Given the description of an element on the screen output the (x, y) to click on. 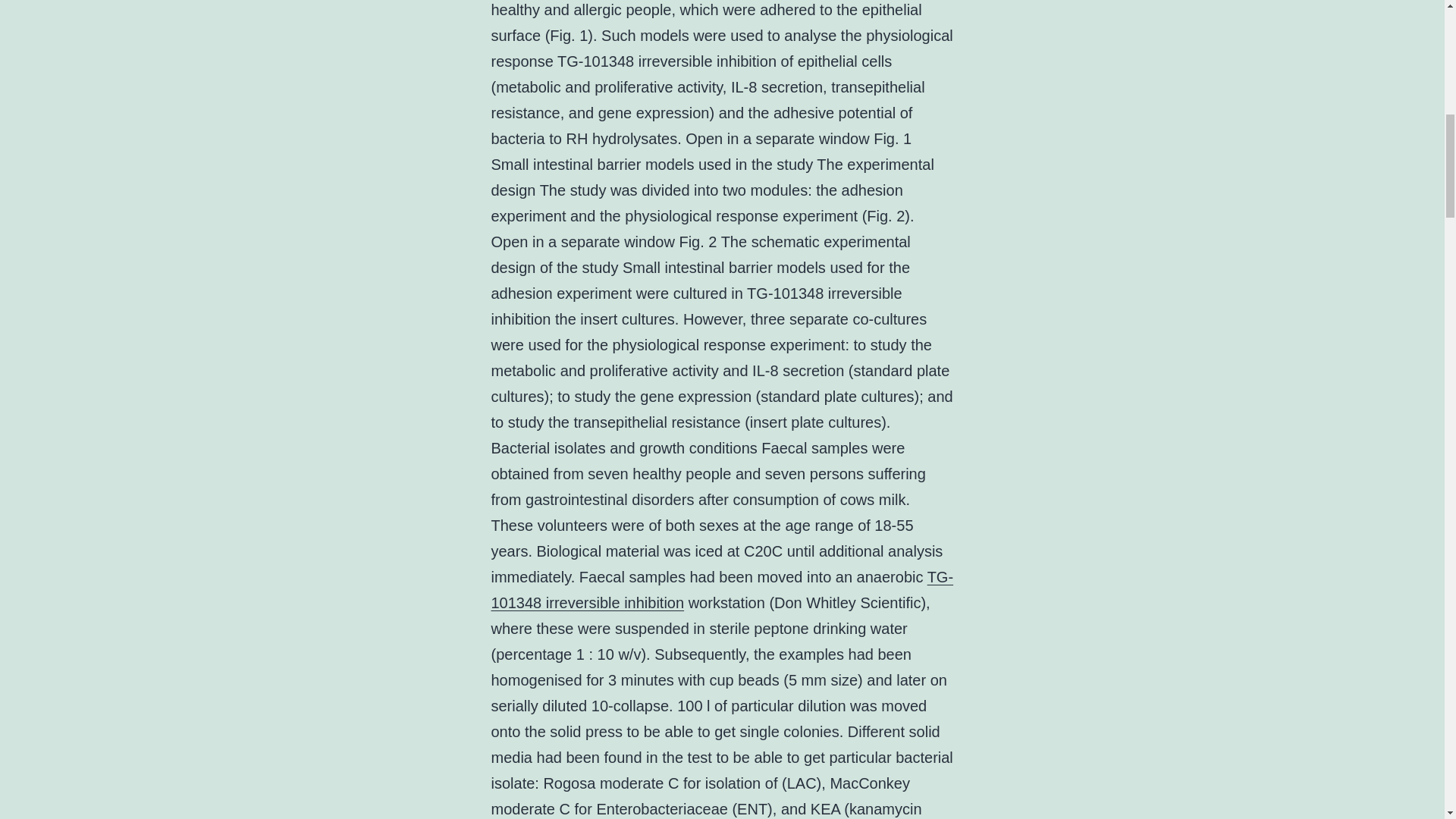
TG-101348 irreversible inhibition (722, 589)
